Given the description of an element on the screen output the (x, y) to click on. 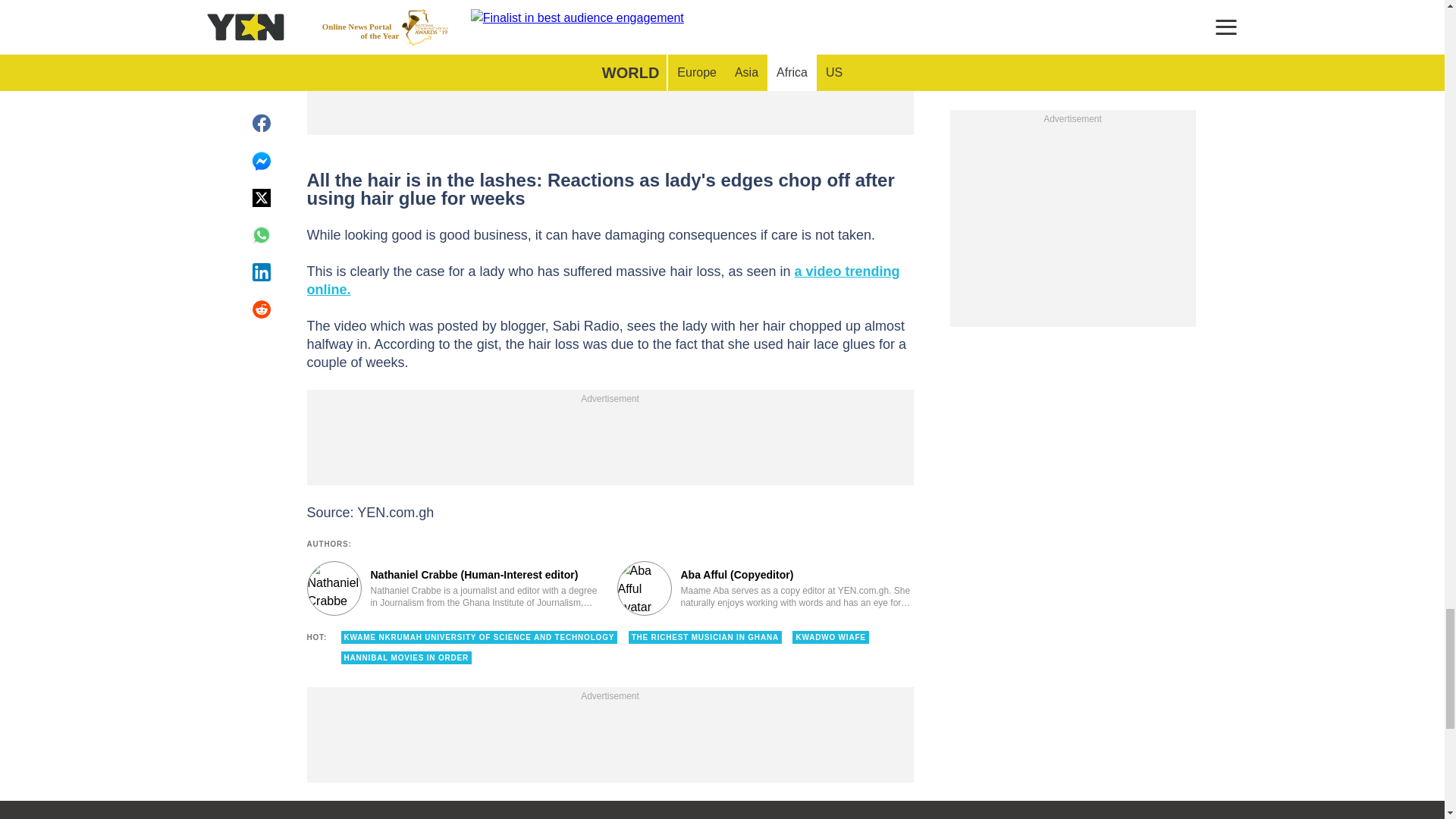
Author page (765, 588)
Author page (453, 588)
